Given the description of an element on the screen output the (x, y) to click on. 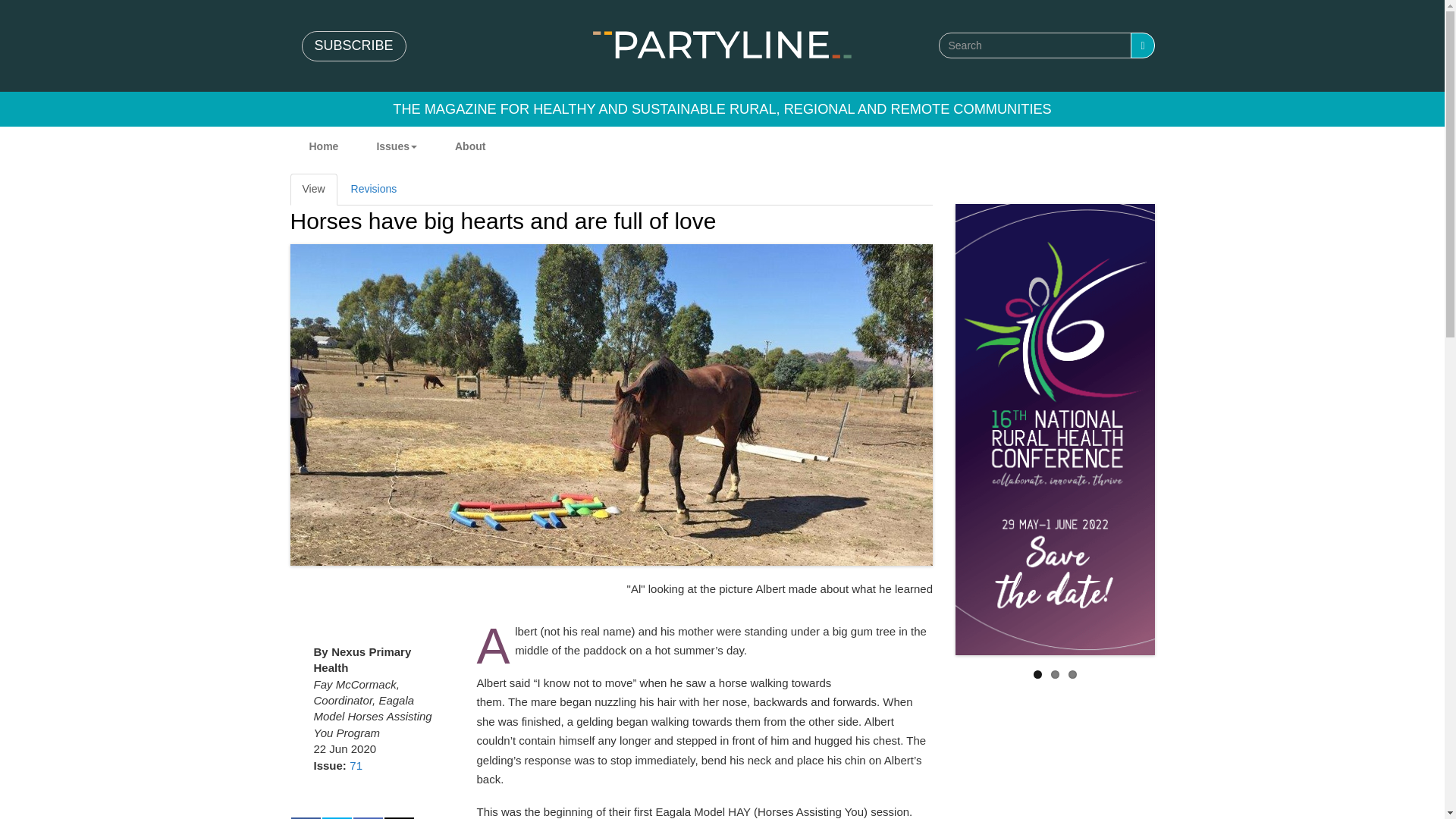
Home (322, 146)
Home (722, 44)
Issues (395, 146)
Search (1142, 45)
SUBSCRIBE (353, 46)
